Given the description of an element on the screen output the (x, y) to click on. 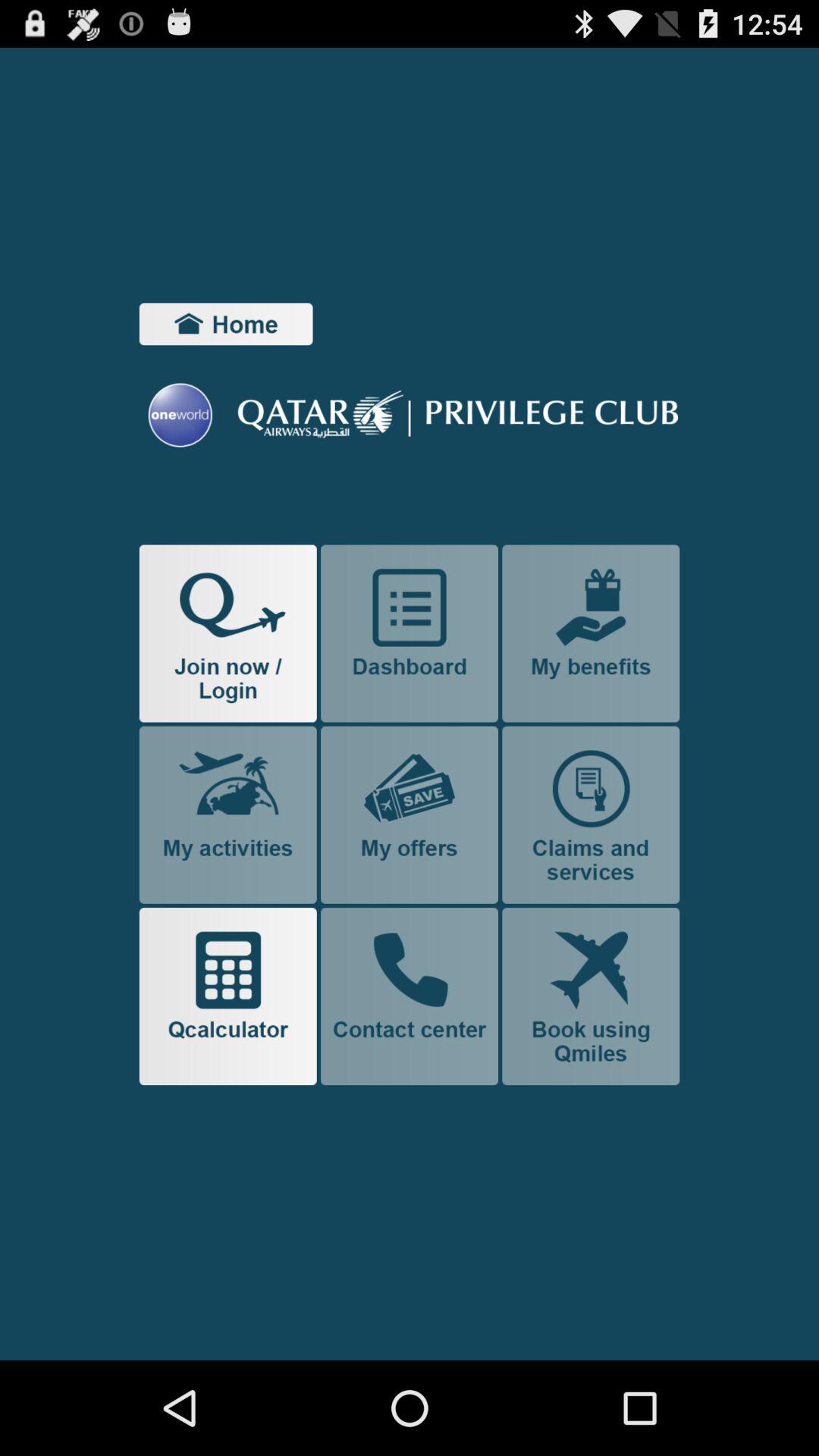
go to my activities (227, 814)
